Given the description of an element on the screen output the (x, y) to click on. 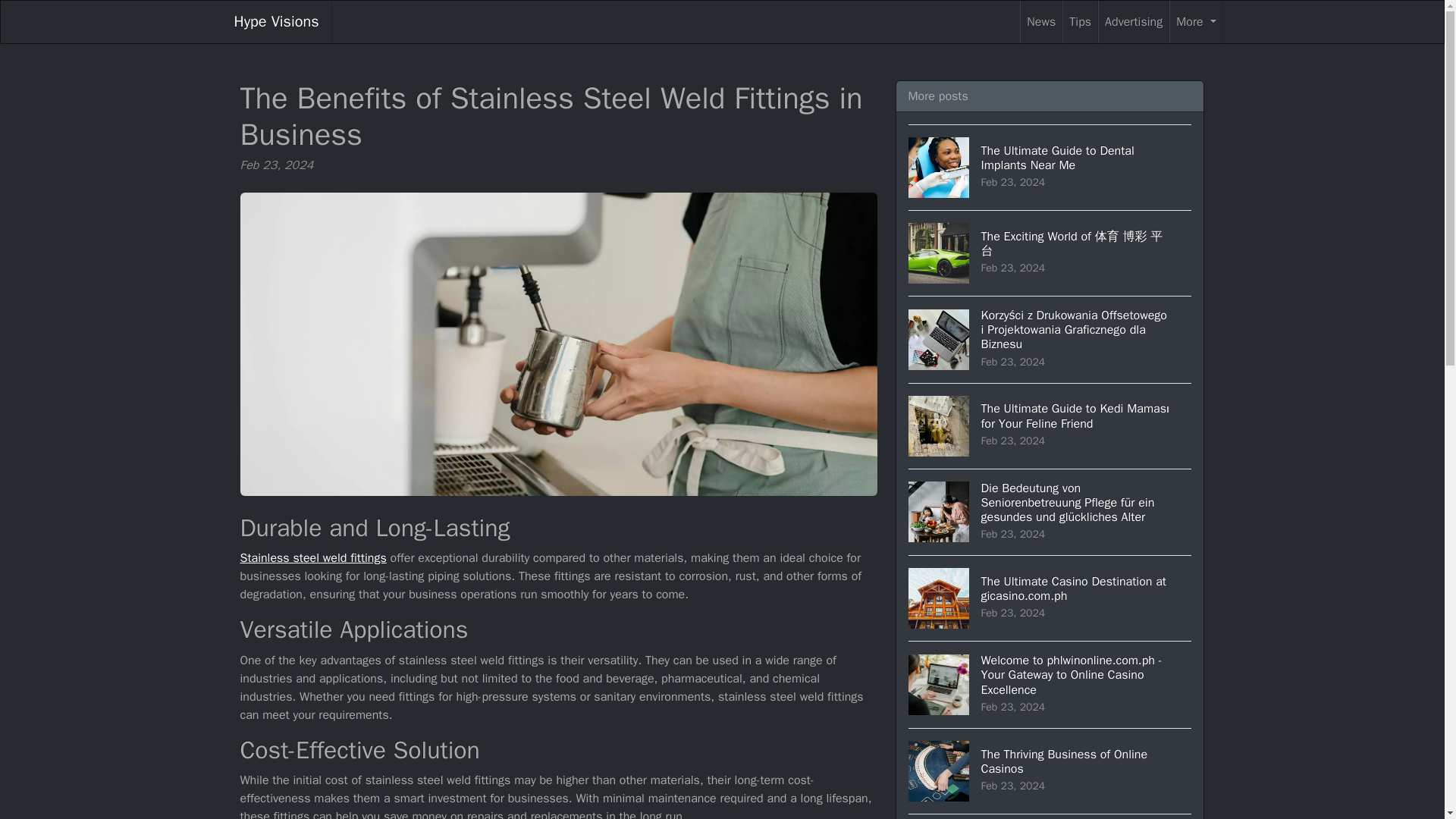
Stainless steel weld fittings (312, 557)
News (1041, 21)
Advertising (1133, 21)
Hype Visions (1050, 771)
More (276, 21)
